Given the description of an element on the screen output the (x, y) to click on. 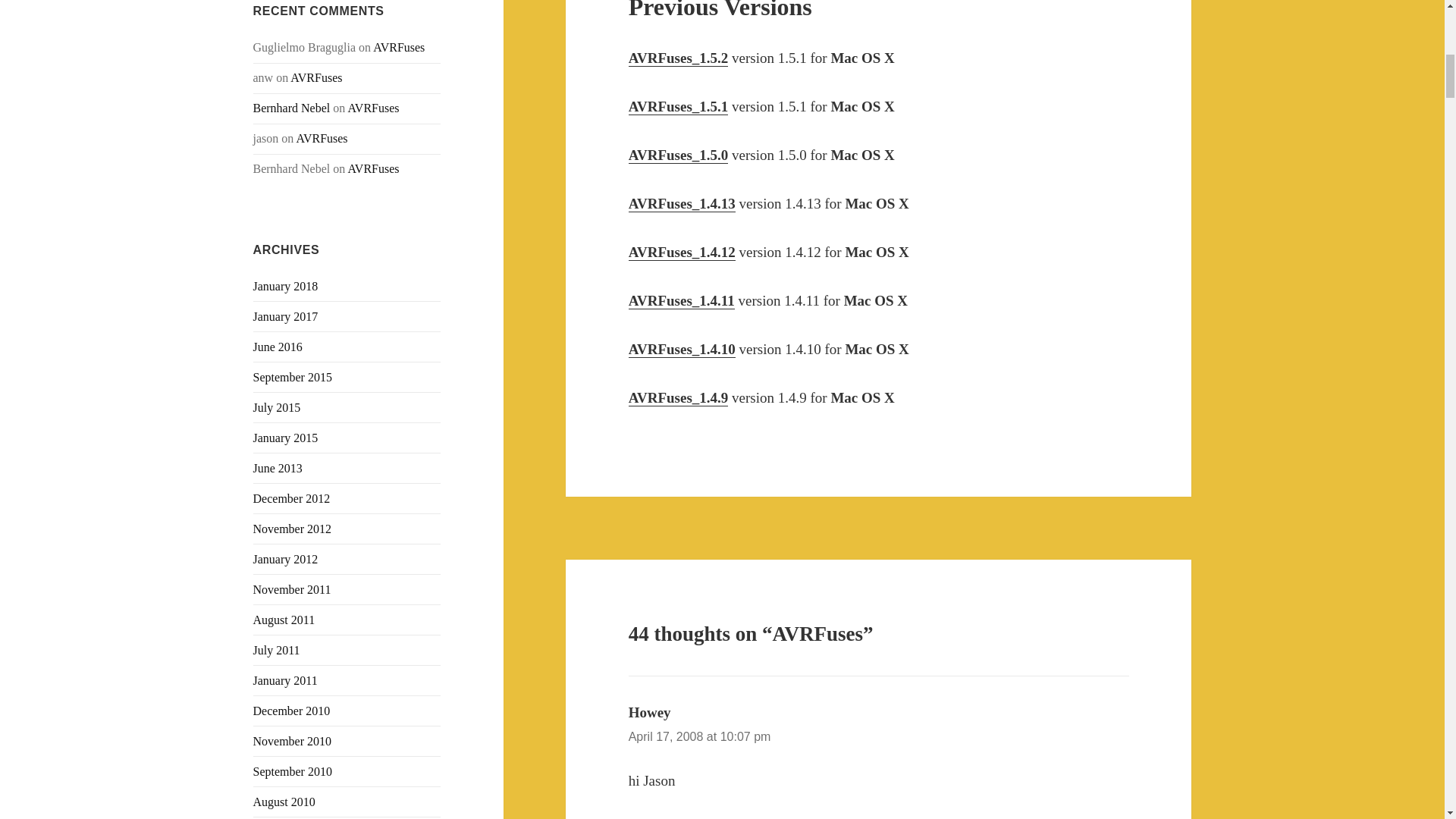
December 2010 (291, 710)
AVRFuses (398, 47)
September 2010 (292, 771)
August 2011 (284, 619)
July 2015 (277, 407)
August 2010 (284, 801)
AVRFuses (372, 168)
July 2011 (276, 649)
December 2012 (291, 498)
January 2017 (285, 316)
